Given the description of an element on the screen output the (x, y) to click on. 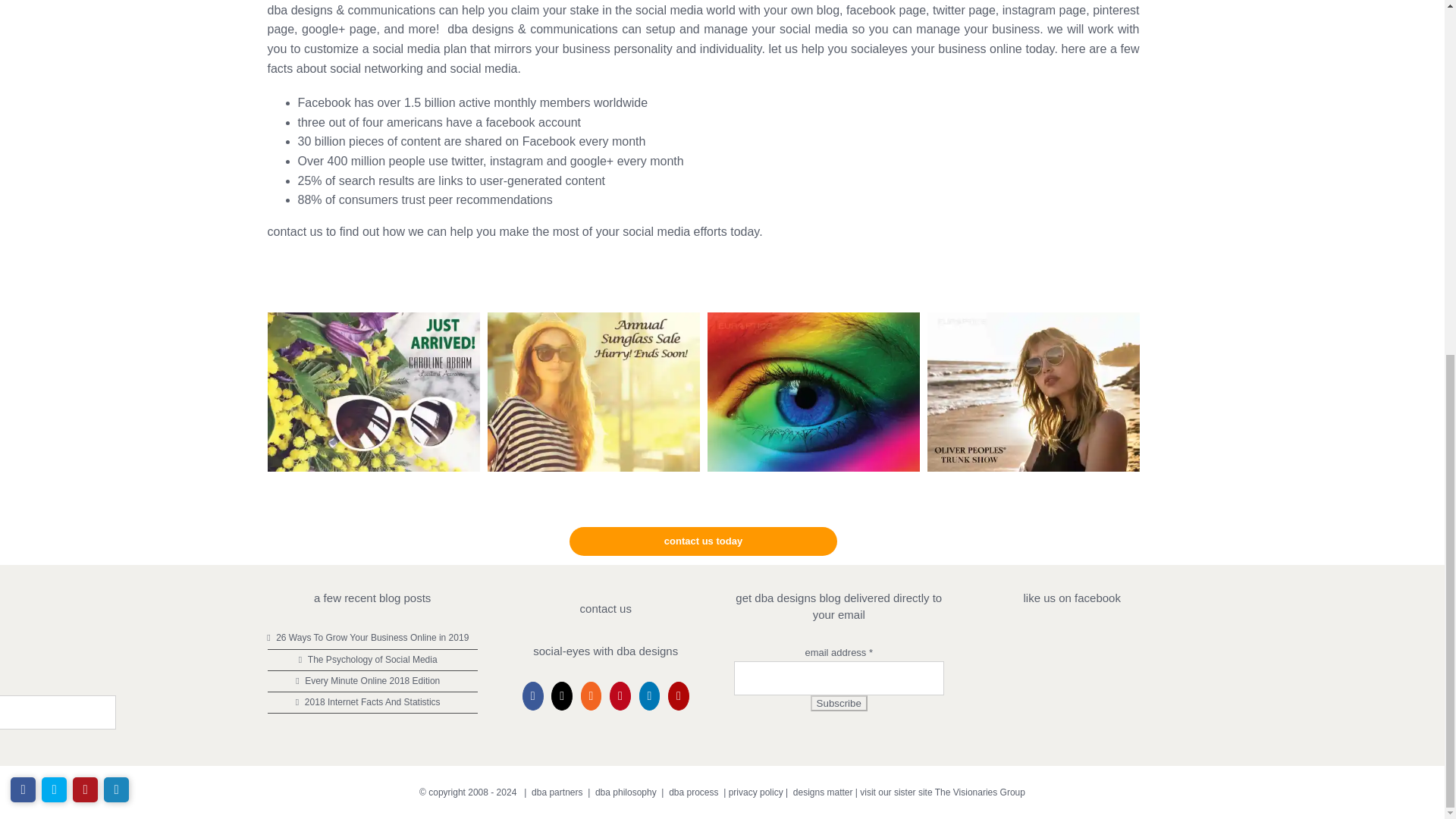
Subscribe (838, 703)
contact us today (721, 541)
